Given the description of an element on the screen output the (x, y) to click on. 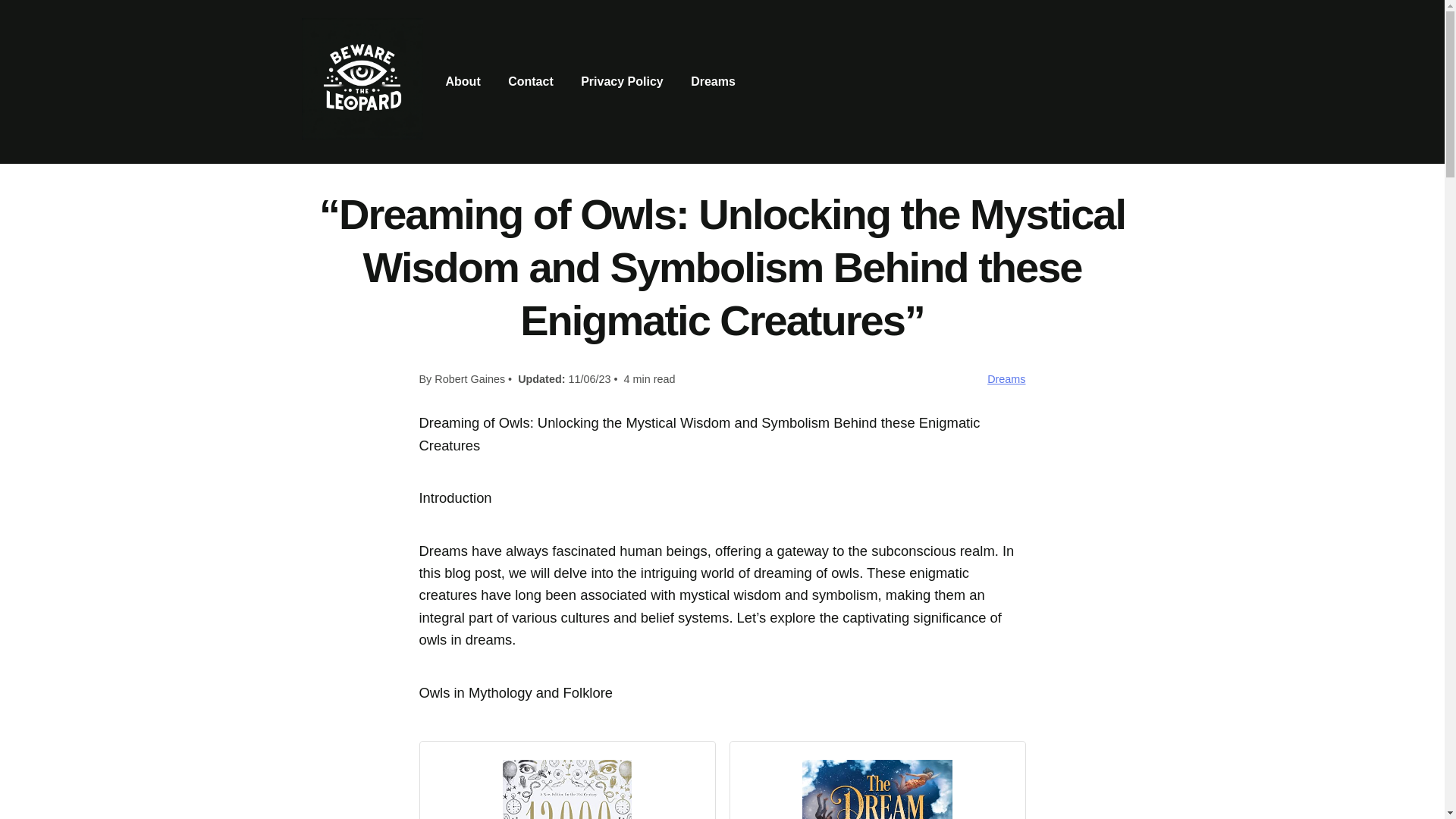
About (462, 81)
Contact (530, 81)
Dreams (1006, 378)
Dreams (712, 81)
Privacy Policy (621, 81)
